Given the description of an element on the screen output the (x, y) to click on. 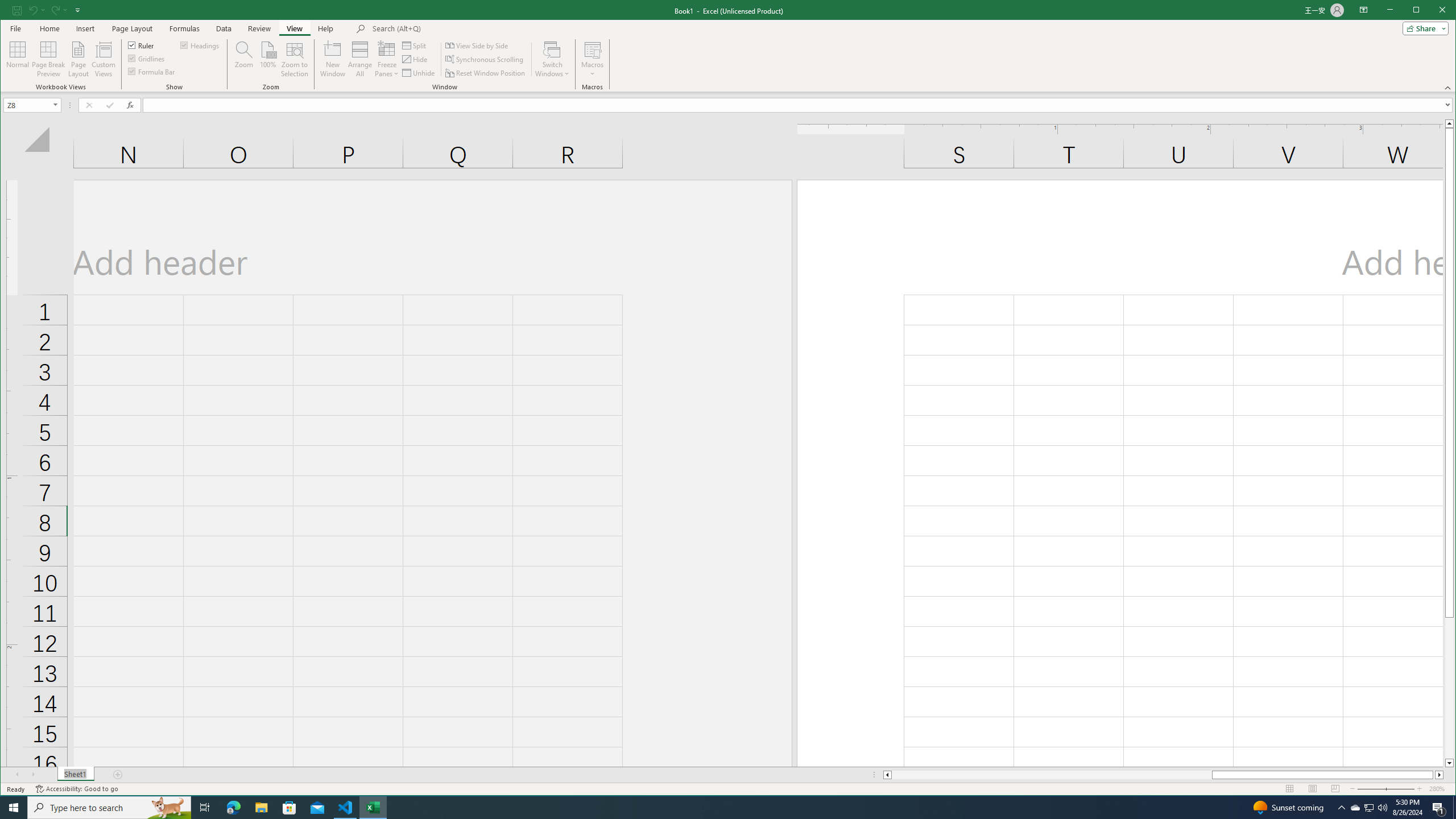
Data (223, 28)
Class: NetUIScrollBar (1163, 774)
Switch Windows (552, 59)
